Given the description of an element on the screen output the (x, y) to click on. 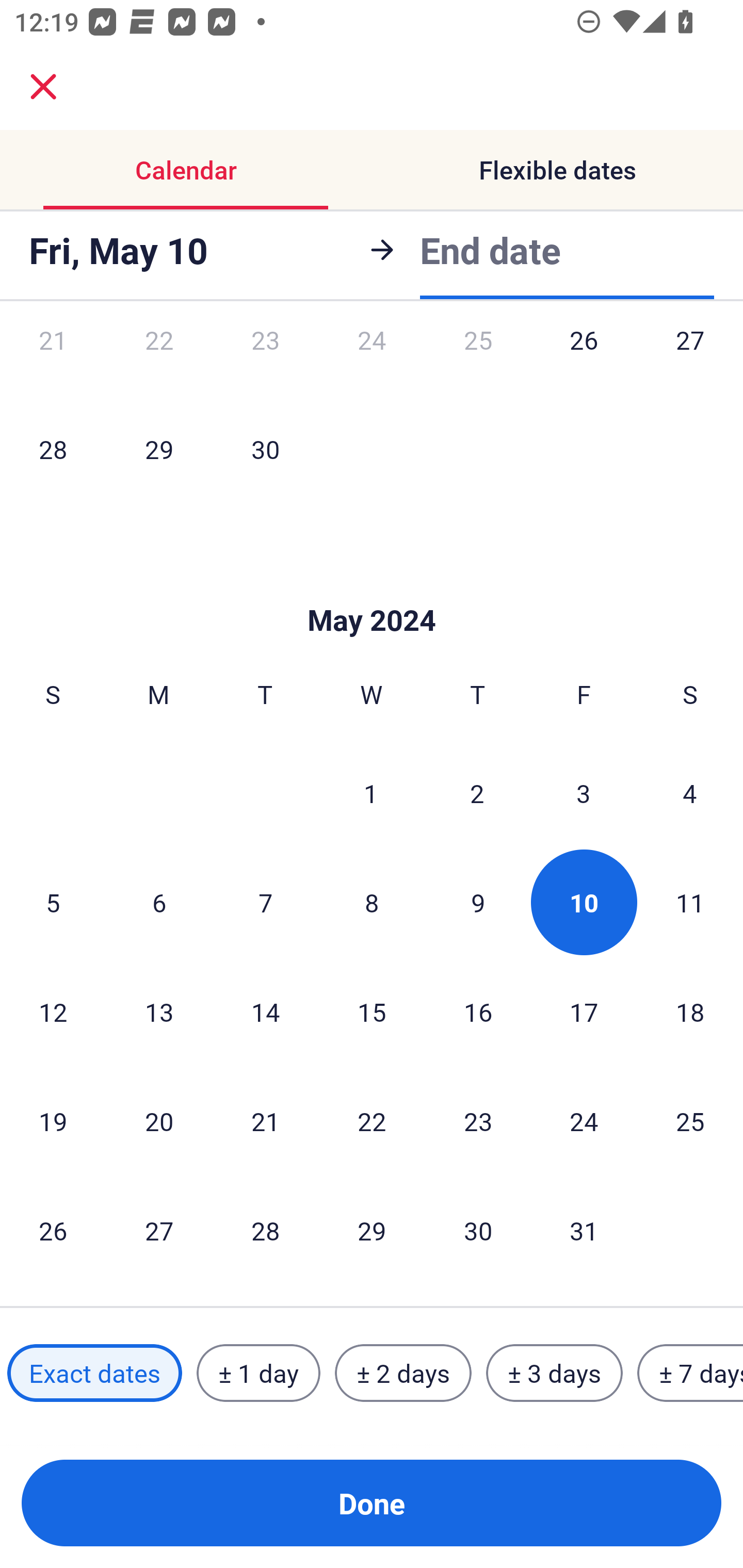
close. (43, 86)
Flexible dates (557, 170)
End date (489, 246)
21 Sunday, April 21, 2024 (53, 361)
22 Monday, April 22, 2024 (159, 361)
23 Tuesday, April 23, 2024 (265, 361)
24 Wednesday, April 24, 2024 (371, 361)
25 Thursday, April 25, 2024 (477, 361)
26 Friday, April 26, 2024 (584, 361)
27 Saturday, April 27, 2024 (690, 361)
28 Sunday, April 28, 2024 (53, 448)
29 Monday, April 29, 2024 (159, 448)
30 Tuesday, April 30, 2024 (265, 448)
Skip to Done (371, 589)
1 Wednesday, May 1, 2024 (371, 792)
2 Thursday, May 2, 2024 (477, 792)
3 Friday, May 3, 2024 (583, 792)
4 Saturday, May 4, 2024 (689, 792)
5 Sunday, May 5, 2024 (53, 901)
6 Monday, May 6, 2024 (159, 901)
7 Tuesday, May 7, 2024 (265, 901)
8 Wednesday, May 8, 2024 (371, 901)
9 Thursday, May 9, 2024 (477, 901)
11 Saturday, May 11, 2024 (690, 901)
12 Sunday, May 12, 2024 (53, 1011)
13 Monday, May 13, 2024 (159, 1011)
14 Tuesday, May 14, 2024 (265, 1011)
15 Wednesday, May 15, 2024 (371, 1011)
16 Thursday, May 16, 2024 (477, 1011)
17 Friday, May 17, 2024 (584, 1011)
18 Saturday, May 18, 2024 (690, 1011)
19 Sunday, May 19, 2024 (53, 1120)
20 Monday, May 20, 2024 (159, 1120)
21 Tuesday, May 21, 2024 (265, 1120)
22 Wednesday, May 22, 2024 (371, 1120)
23 Thursday, May 23, 2024 (477, 1120)
24 Friday, May 24, 2024 (584, 1120)
25 Saturday, May 25, 2024 (690, 1120)
26 Sunday, May 26, 2024 (53, 1229)
27 Monday, May 27, 2024 (159, 1229)
28 Tuesday, May 28, 2024 (265, 1229)
29 Wednesday, May 29, 2024 (371, 1229)
30 Thursday, May 30, 2024 (477, 1229)
31 Friday, May 31, 2024 (584, 1229)
Exact dates (94, 1372)
± 1 day (258, 1372)
± 2 days (403, 1372)
± 3 days (553, 1372)
± 7 days (690, 1372)
Done (371, 1502)
